Given the description of an element on the screen output the (x, y) to click on. 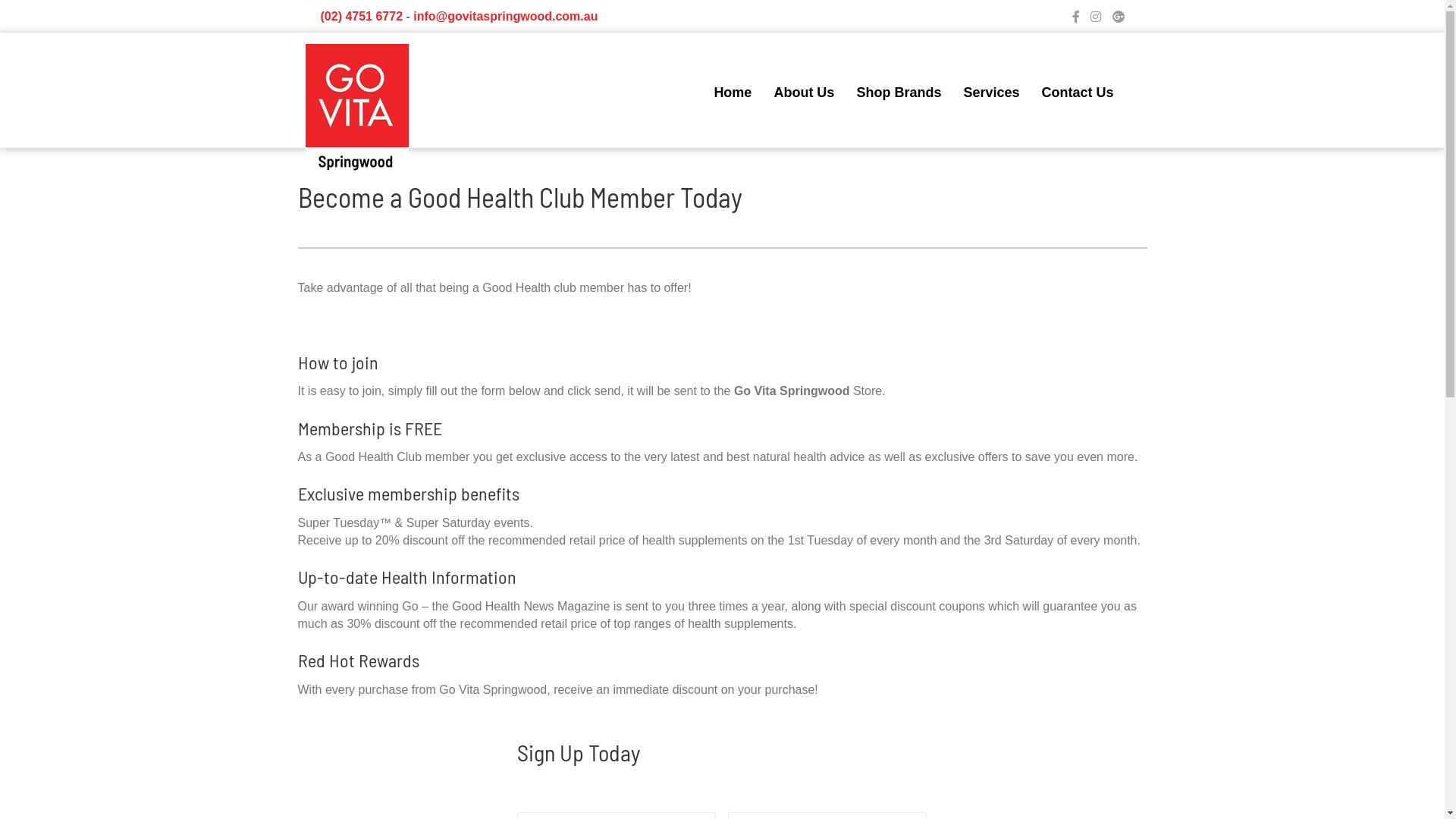
Services Element type: text (990, 92)
Shop Brands Element type: text (898, 92)
info@govitaspringwood.com.au Element type: text (505, 15)
About Us Element type: text (803, 92)
GoVita Springwood Logo fullsize jpg 136x167 Element type: hover (355, 106)
(02) 4751 6772 Element type: text (361, 15)
Home Element type: text (732, 92)
Contact Us Element type: text (1076, 92)
